Given the description of an element on the screen output the (x, y) to click on. 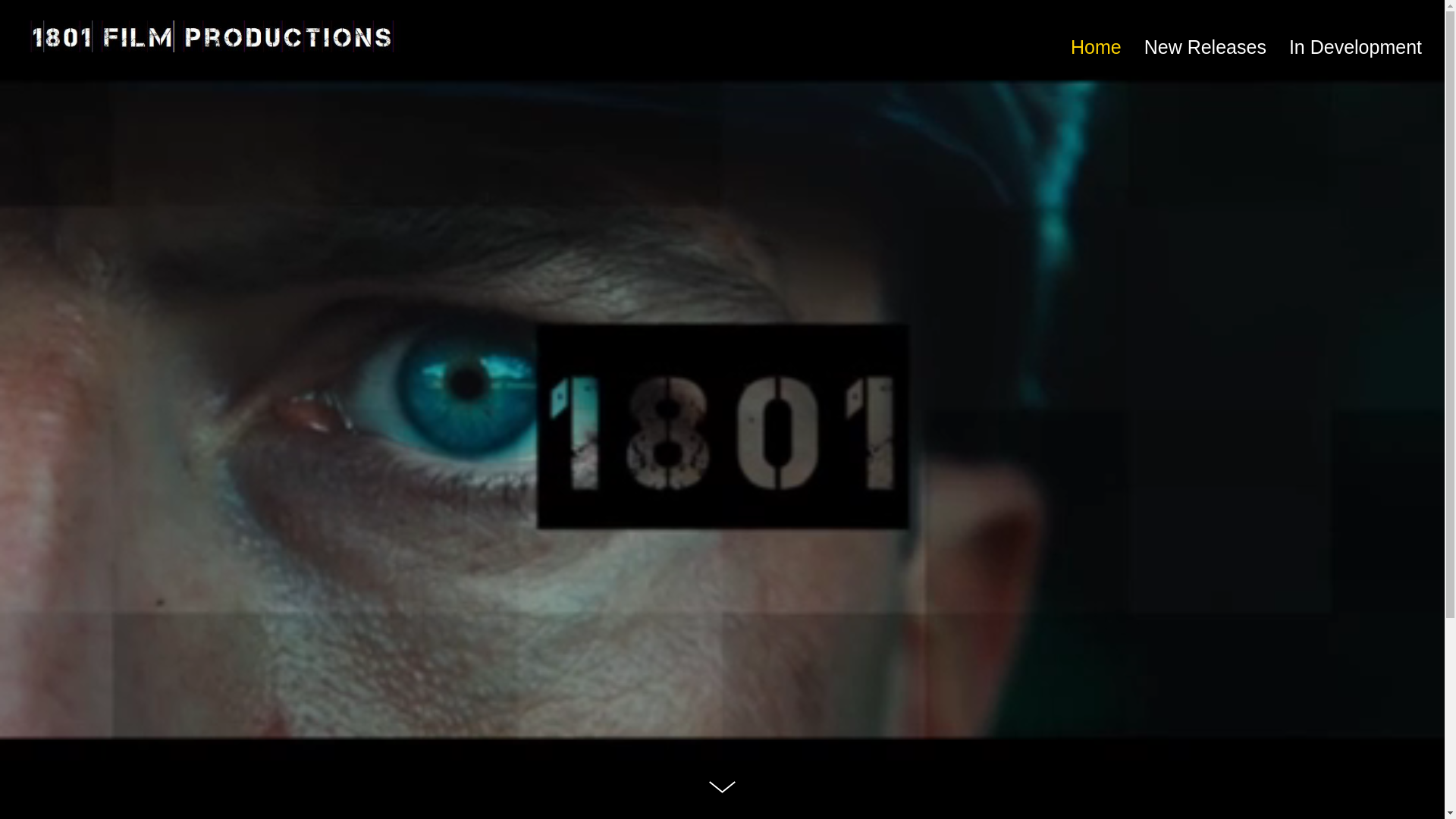
Home Element type: text (1101, 48)
In Development Element type: text (1349, 48)
New Releases Element type: text (1204, 48)
